Given the description of an element on the screen output the (x, y) to click on. 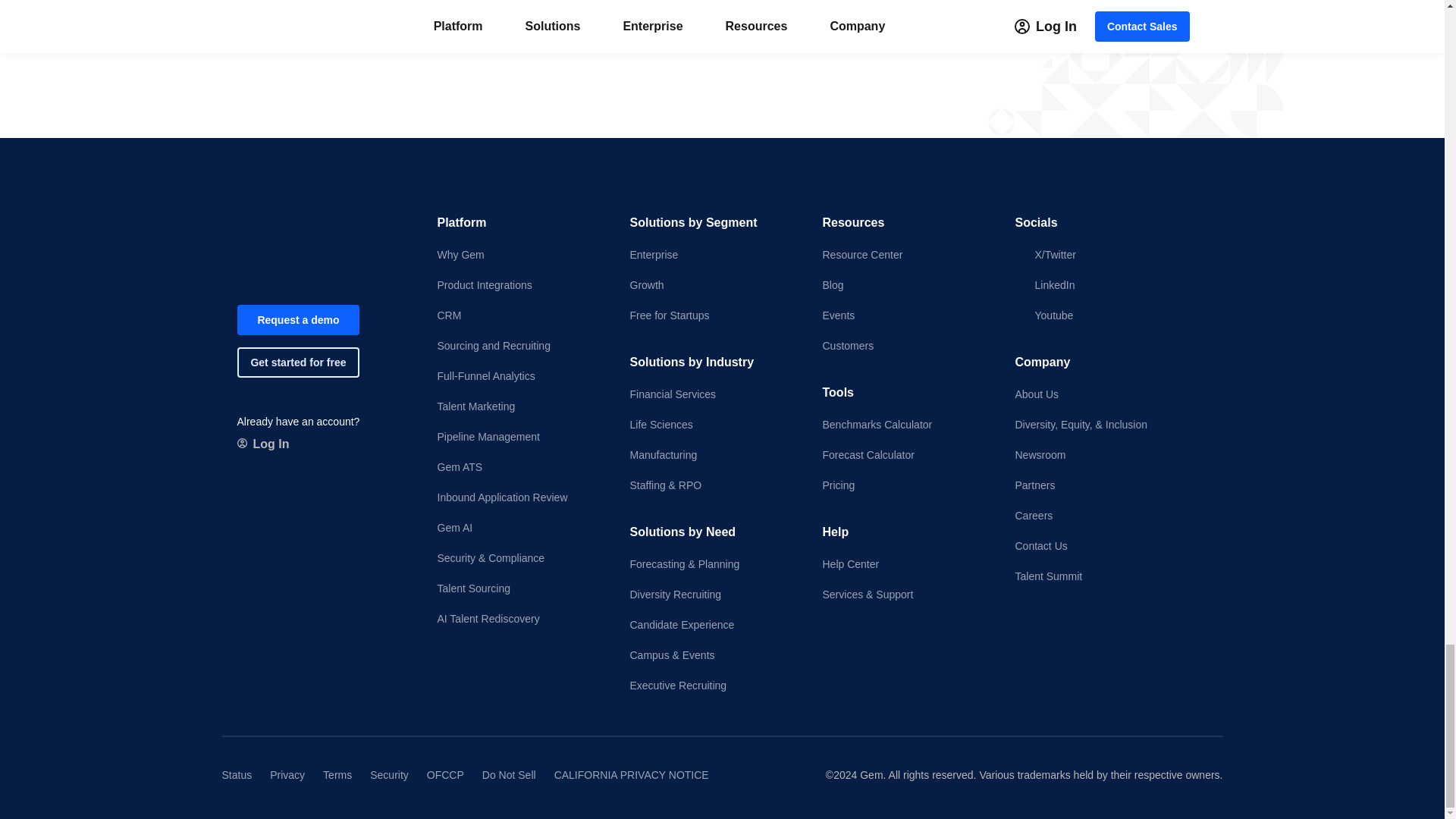
Get started for free (297, 362)
Request a demo (297, 319)
Log In (261, 444)
Product Integrations (520, 284)
Why Gem (520, 254)
